Given the description of an element on the screen output the (x, y) to click on. 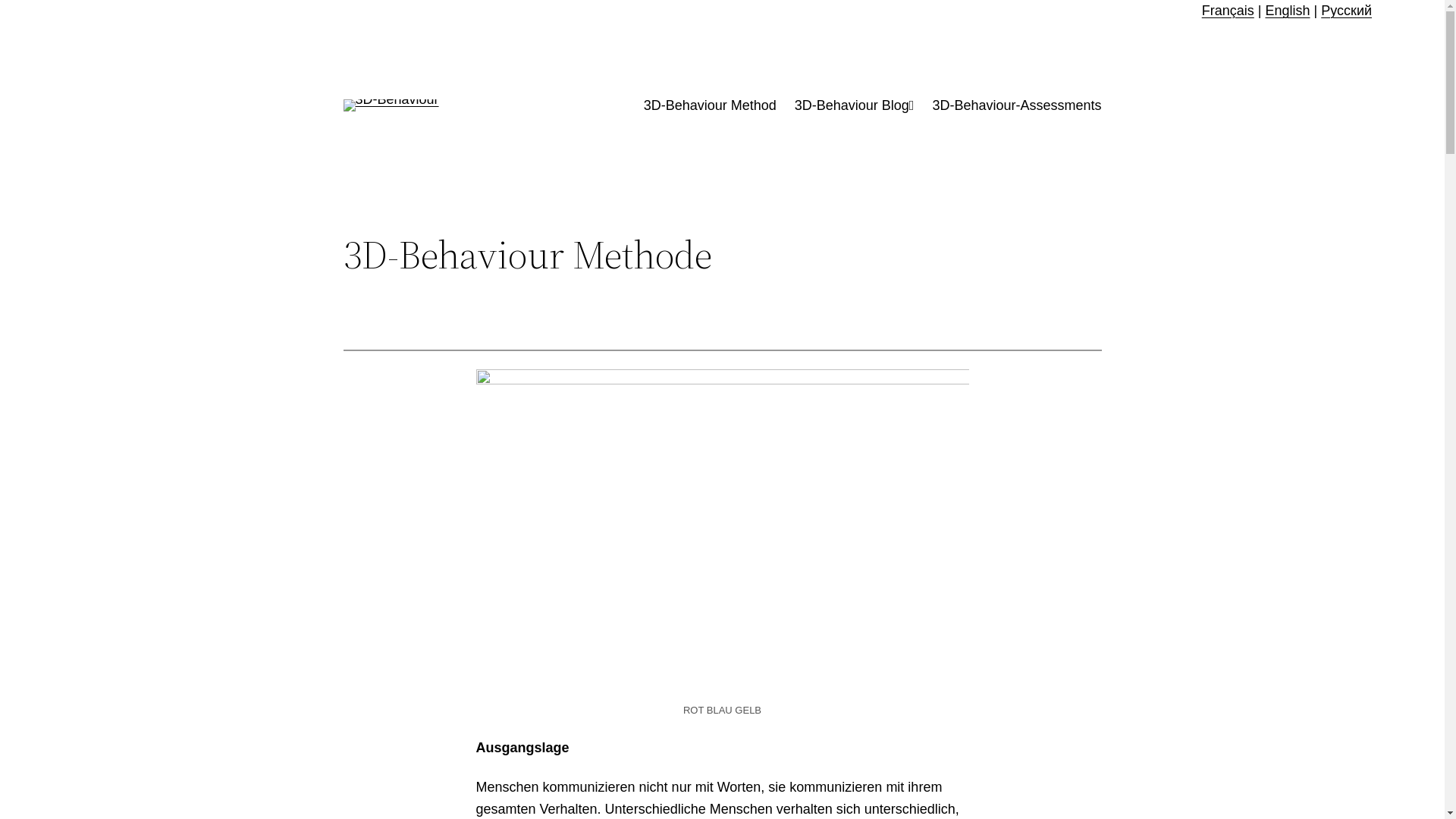
3D-Behaviour Method Element type: text (709, 105)
3D-Behaviour-Assessments Element type: text (1016, 105)
English Element type: text (1286, 10)
